Given the description of an element on the screen output the (x, y) to click on. 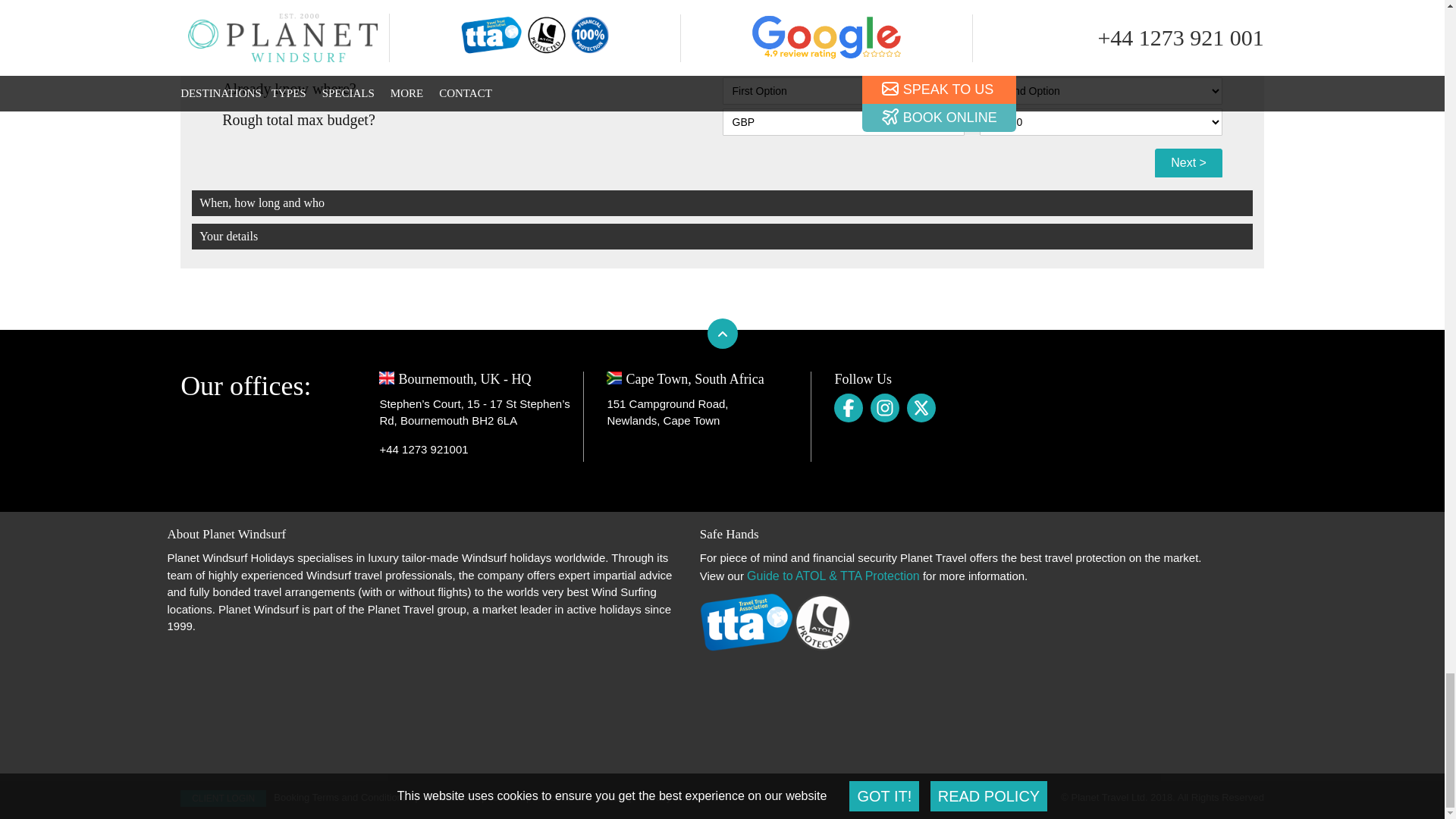
Destination (1101, 90)
Destination (842, 90)
